Given the description of an element on the screen output the (x, y) to click on. 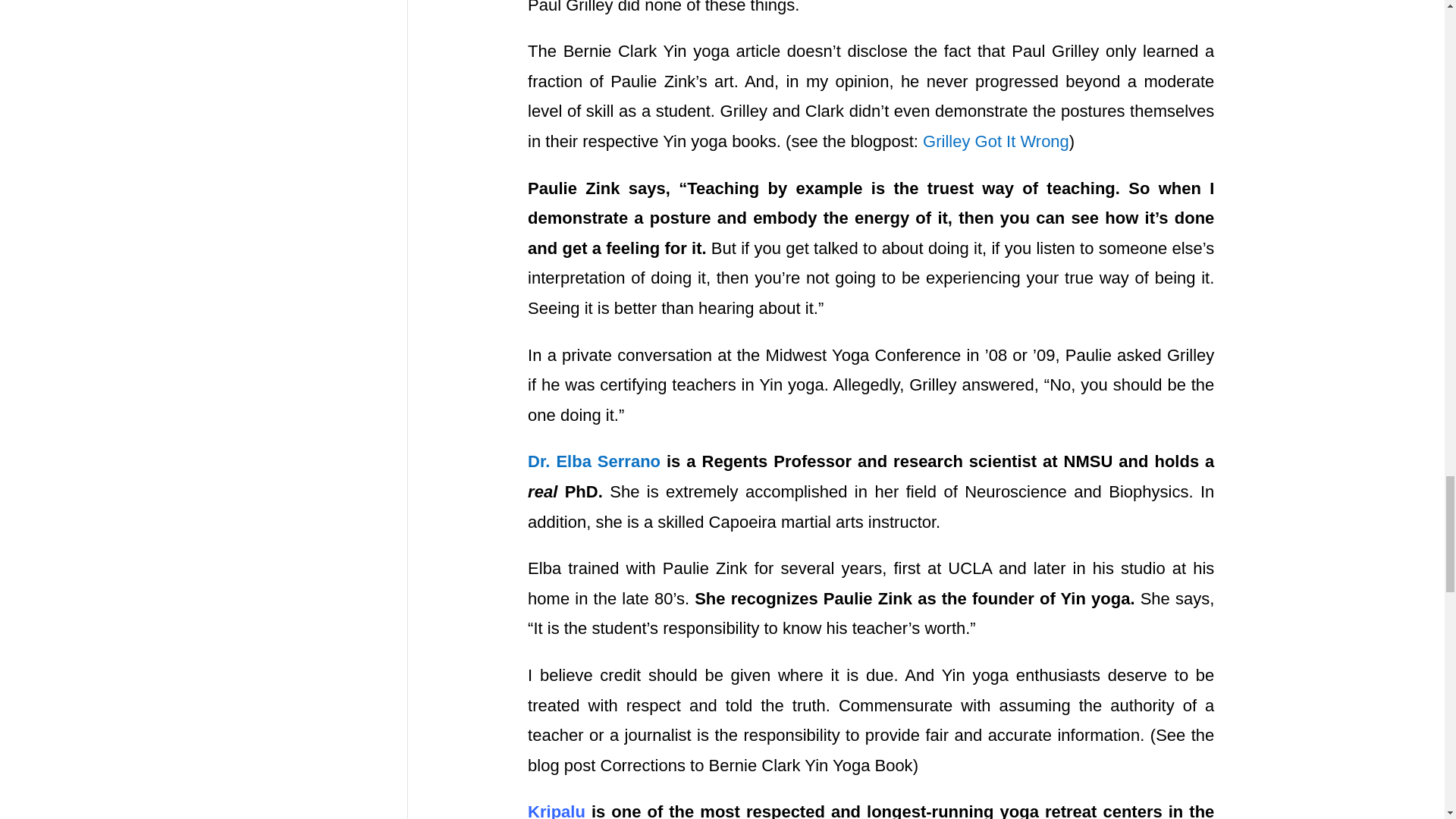
Corrections to Bernie Clark Yin Yoga Book (755, 764)
Grilley Got It Wrong (995, 140)
Dr. Elba Serrano (594, 461)
Kripalu (556, 810)
